Given the description of an element on the screen output the (x, y) to click on. 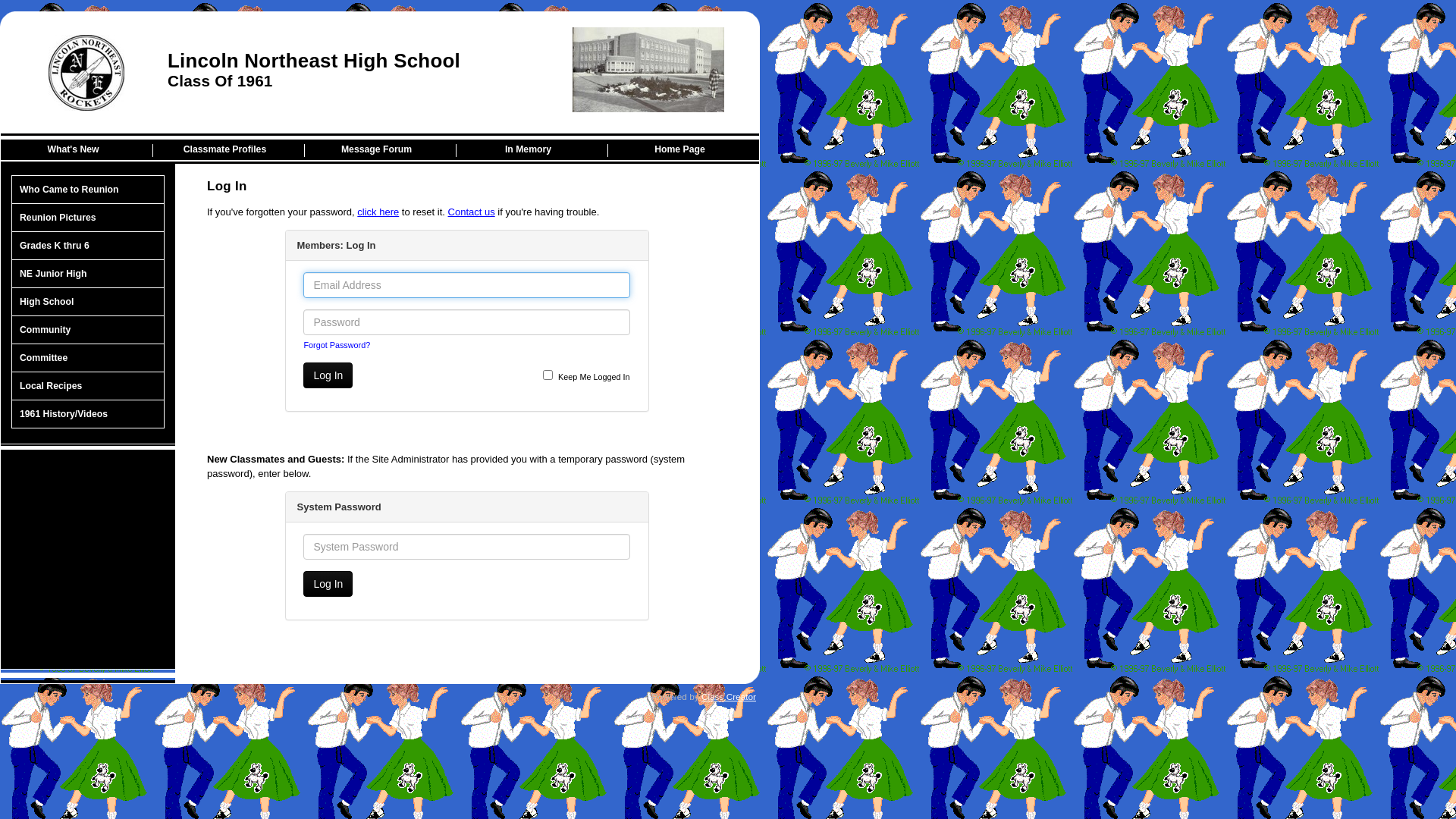
Committee Element type: text (87, 358)
Reunion Pictures Element type: text (87, 217)
click here Element type: text (377, 211)
What's New Element type: text (76, 149)
Forgot Password? Element type: text (336, 344)
Grades K thru 6 Element type: text (87, 246)
Who Came to Reunion Element type: text (87, 189)
Community Element type: text (87, 330)
Class Creator Element type: text (728, 696)
Log In Element type: text (327, 375)
In Memory Element type: text (531, 149)
Classmate Profiles Element type: text (228, 149)
Home Page Element type: text (683, 149)
Contact us Element type: text (471, 211)
NE Junior High Element type: text (87, 274)
1961 History/Videos Element type: text (87, 414)
Message Forum Element type: text (379, 149)
Local Recipes Element type: text (87, 386)
Log In Element type: text (327, 583)
High School Element type: text (87, 302)
